Given the description of an element on the screen output the (x, y) to click on. 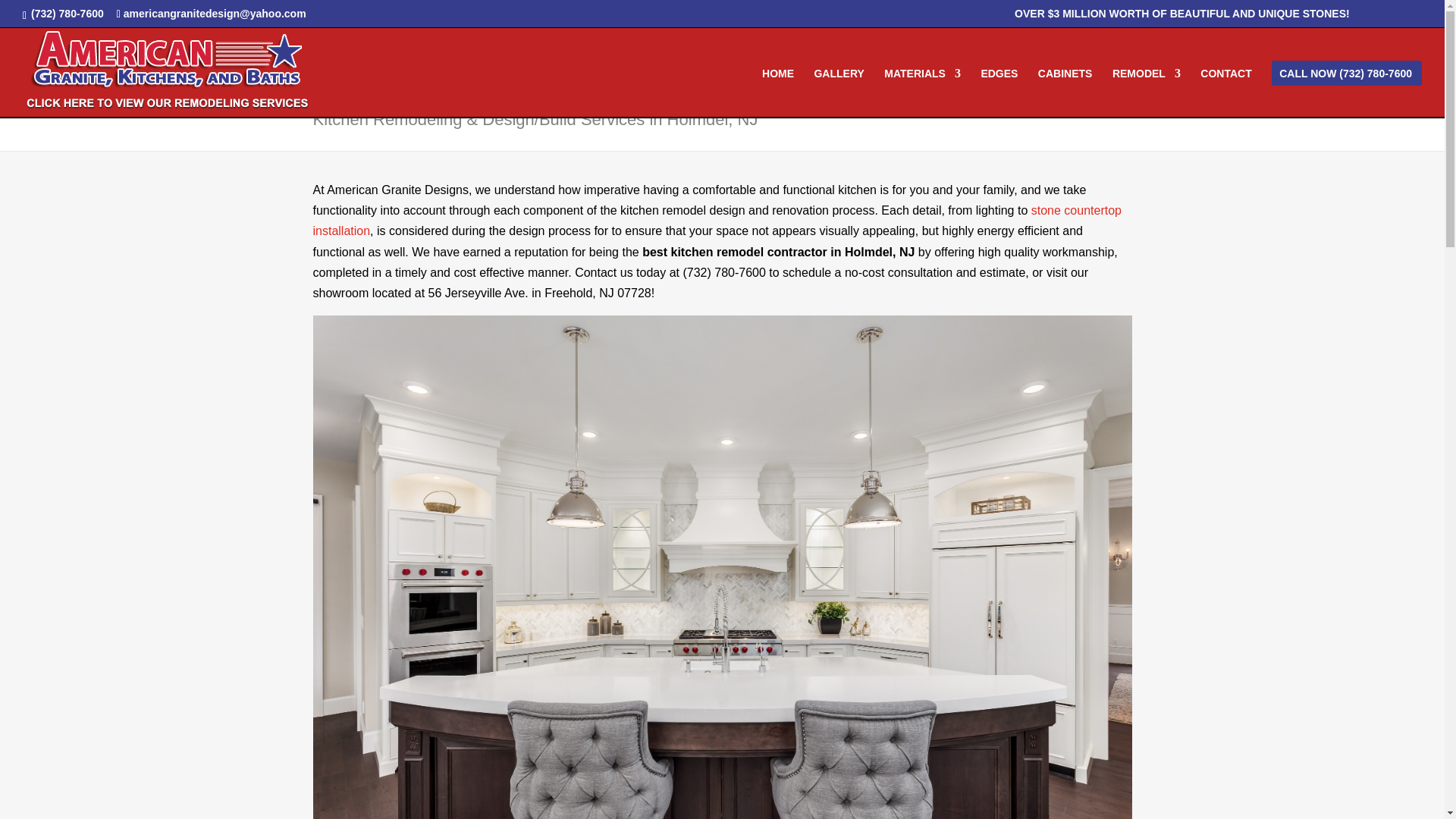
stone countertop installation (717, 220)
CABINETS (1065, 92)
MATERIALS (921, 92)
CONTACT (1224, 92)
GALLERY (838, 92)
REMODEL (1146, 92)
